Given the description of an element on the screen output the (x, y) to click on. 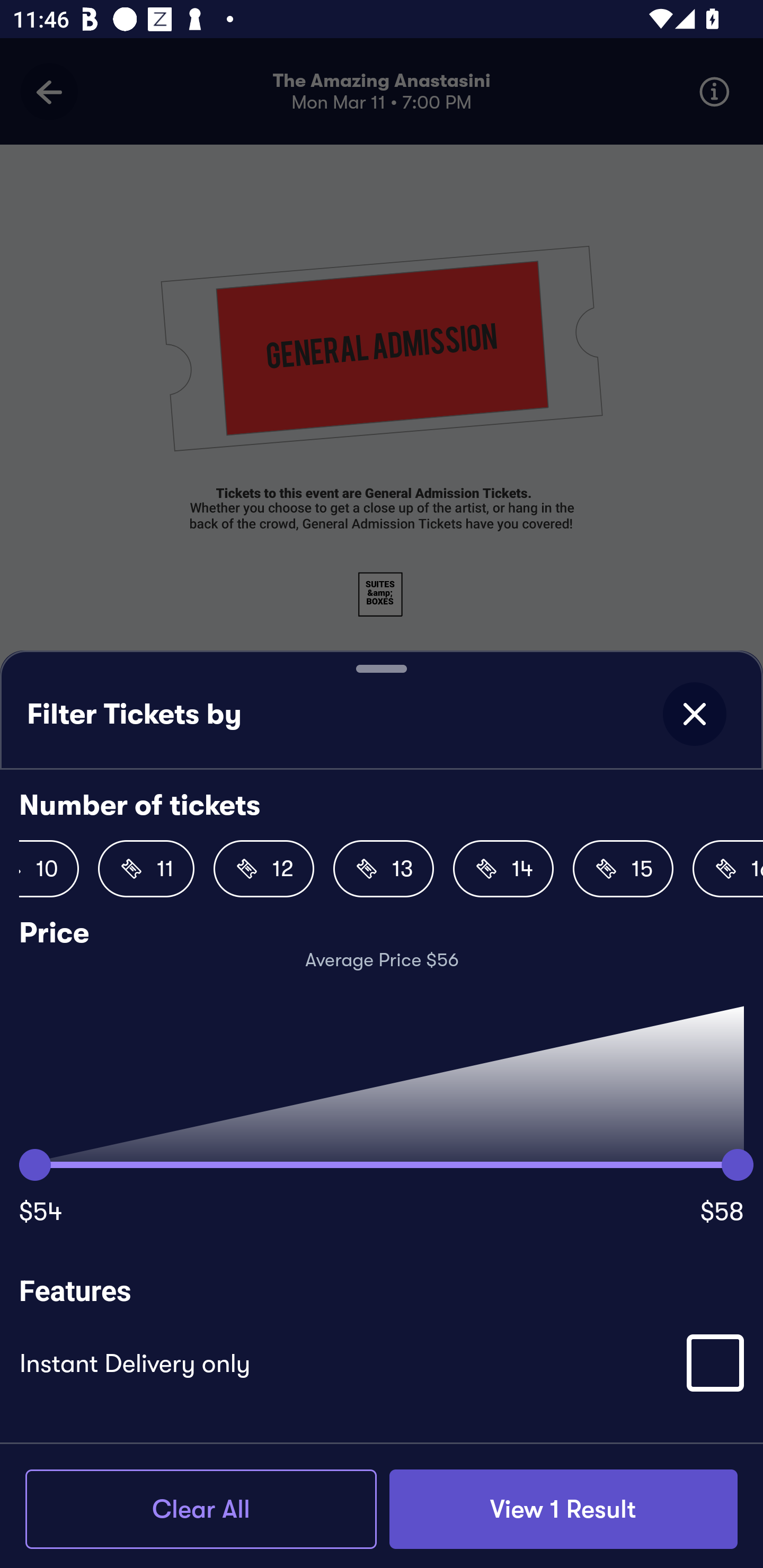
close (694, 714)
11 (145, 868)
12 (263, 868)
13 (383, 868)
14 (503, 868)
15 (623, 868)
16 (727, 868)
Clear All (200, 1509)
View 1 Result (563, 1509)
